Given the description of an element on the screen output the (x, y) to click on. 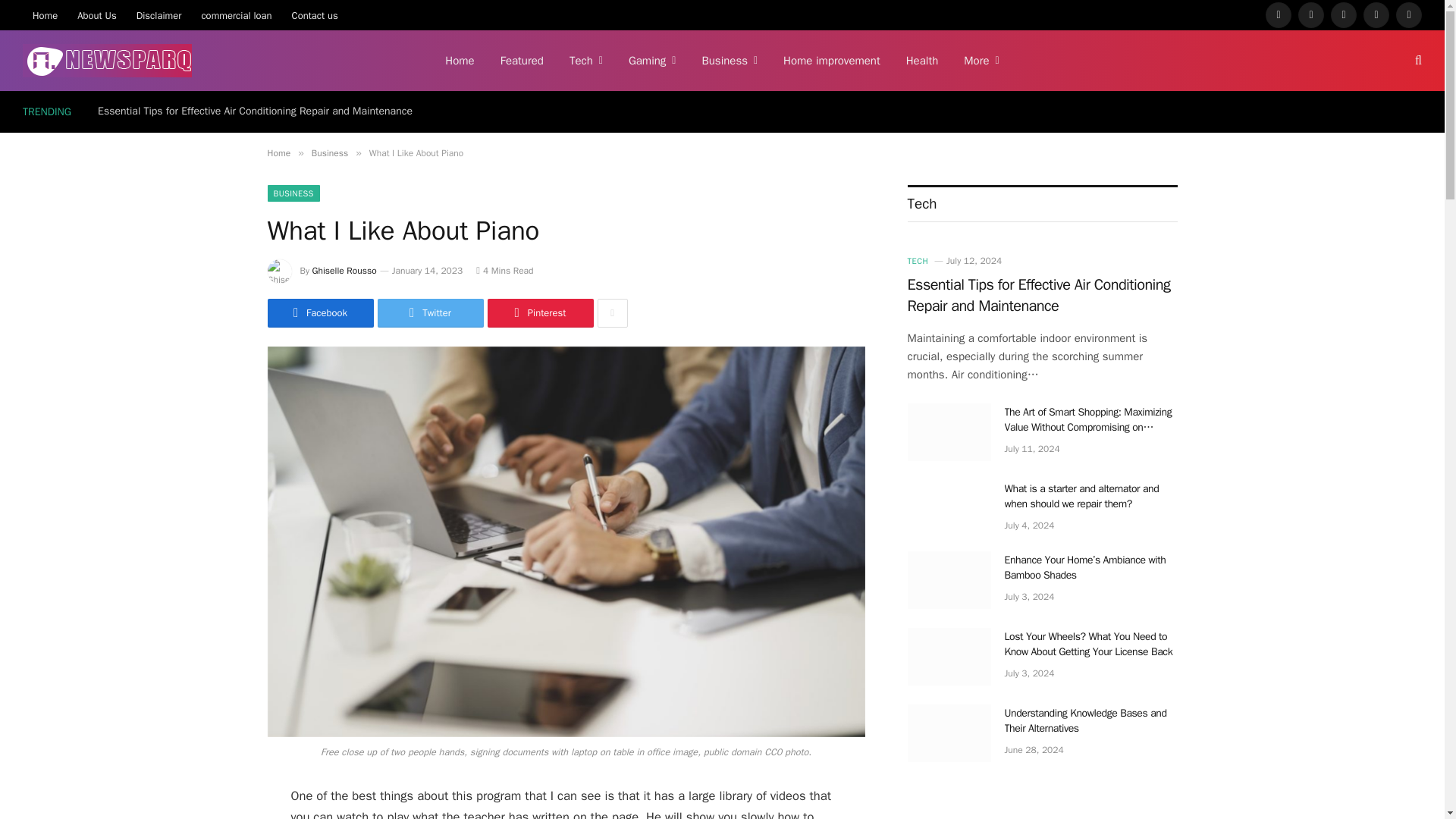
Health (922, 60)
Home (459, 60)
VKontakte (1409, 14)
Tech (585, 60)
commercial loan (235, 15)
Facebook (1278, 14)
About Us (95, 15)
Vimeo (1375, 14)
Gaming (651, 60)
More (980, 60)
Posts by Ghiselle Rousso (345, 270)
Contact us (314, 15)
NewsParq (107, 60)
Disclaimer (159, 15)
